Given the description of an element on the screen output the (x, y) to click on. 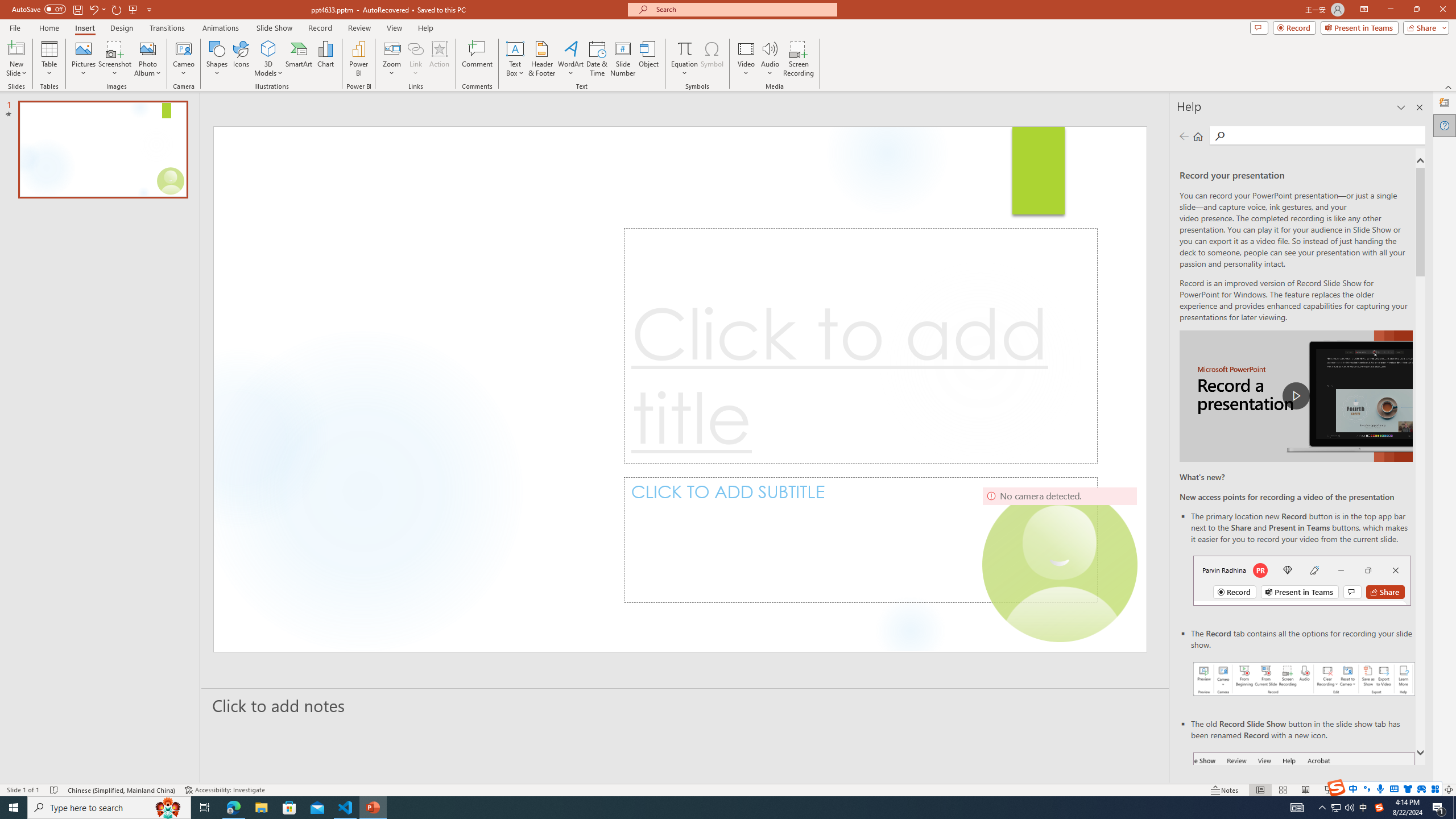
Icons (240, 58)
Action (439, 58)
Pictures (83, 58)
Record your presentations screenshot one (1304, 678)
Header & Footer... (541, 58)
Screen Recording... (798, 58)
